Given the description of an element on the screen output the (x, y) to click on. 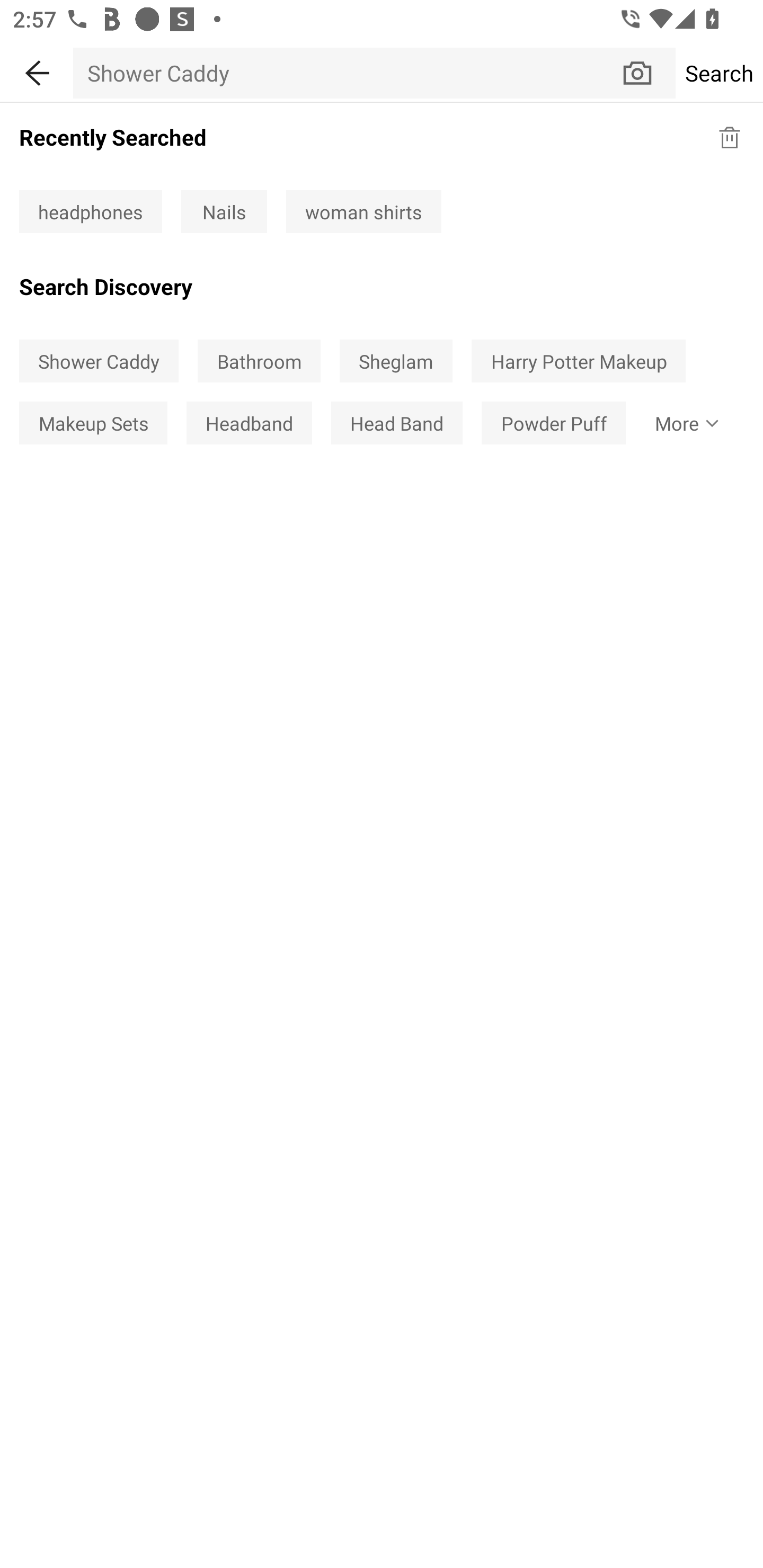
BACK (36, 69)
Shower Caddy (346, 72)
Search (719, 72)
headphones (90, 211)
Nails (224, 211)
woman shirts (363, 211)
Shower Caddy (98, 361)
Bathroom (258, 361)
Sheglam (395, 361)
Harry Potter Makeup (578, 361)
Makeup Sets (93, 422)
Headband (249, 422)
Head Band (396, 422)
Powder Puff (553, 422)
More (682, 422)
